Given the description of an element on the screen output the (x, y) to click on. 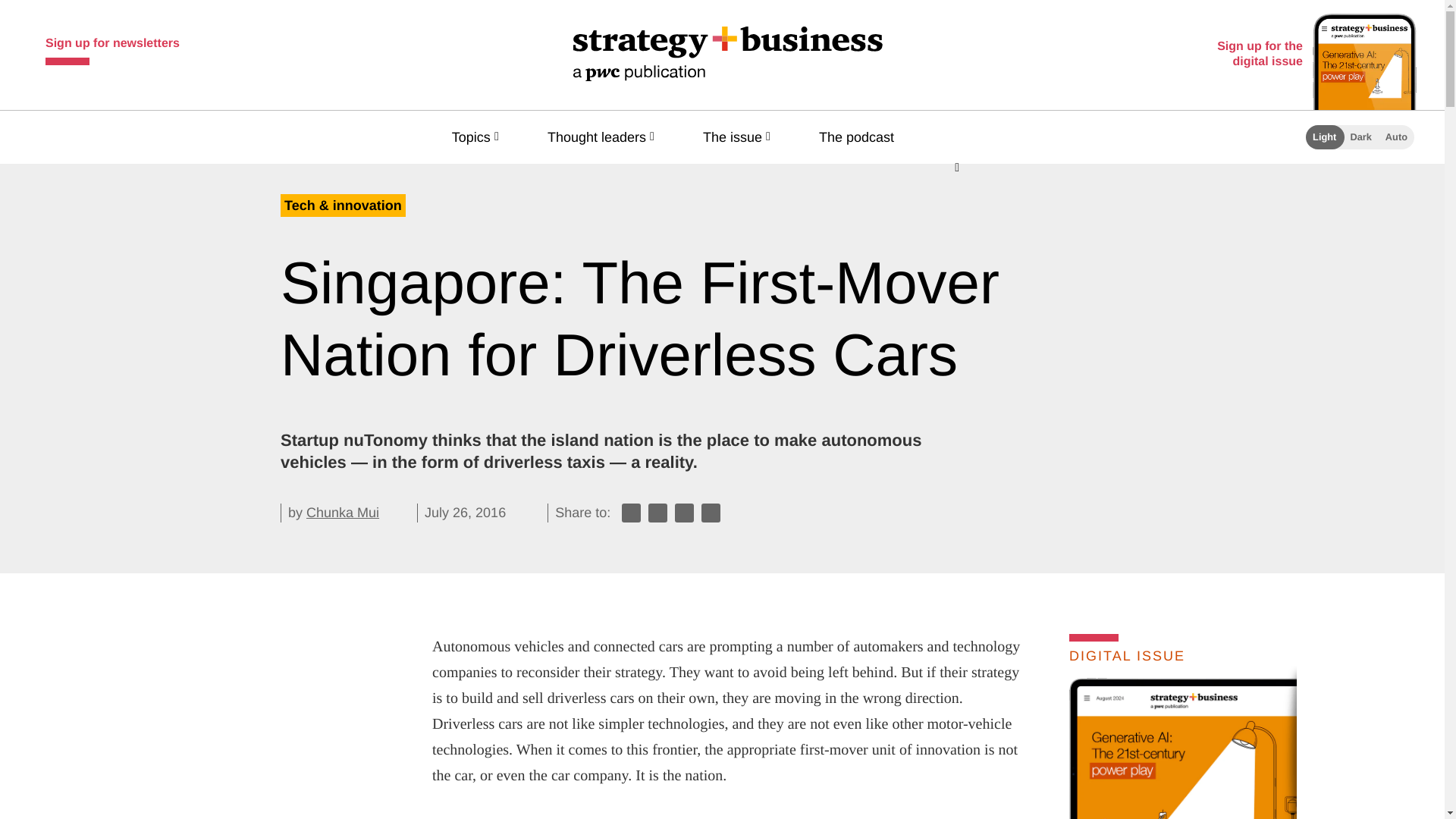
Thought leaders (604, 136)
The issue (740, 136)
Latest issue  (1193, 748)
A collection of topics for thought leaders (604, 136)
Sign up for newsletters (112, 47)
The podcast (863, 136)
Topics (478, 136)
Sign up for the digital issue (1313, 54)
Illustration of flying birds delivering information (1067, 816)
